Given the description of an element on the screen output the (x, y) to click on. 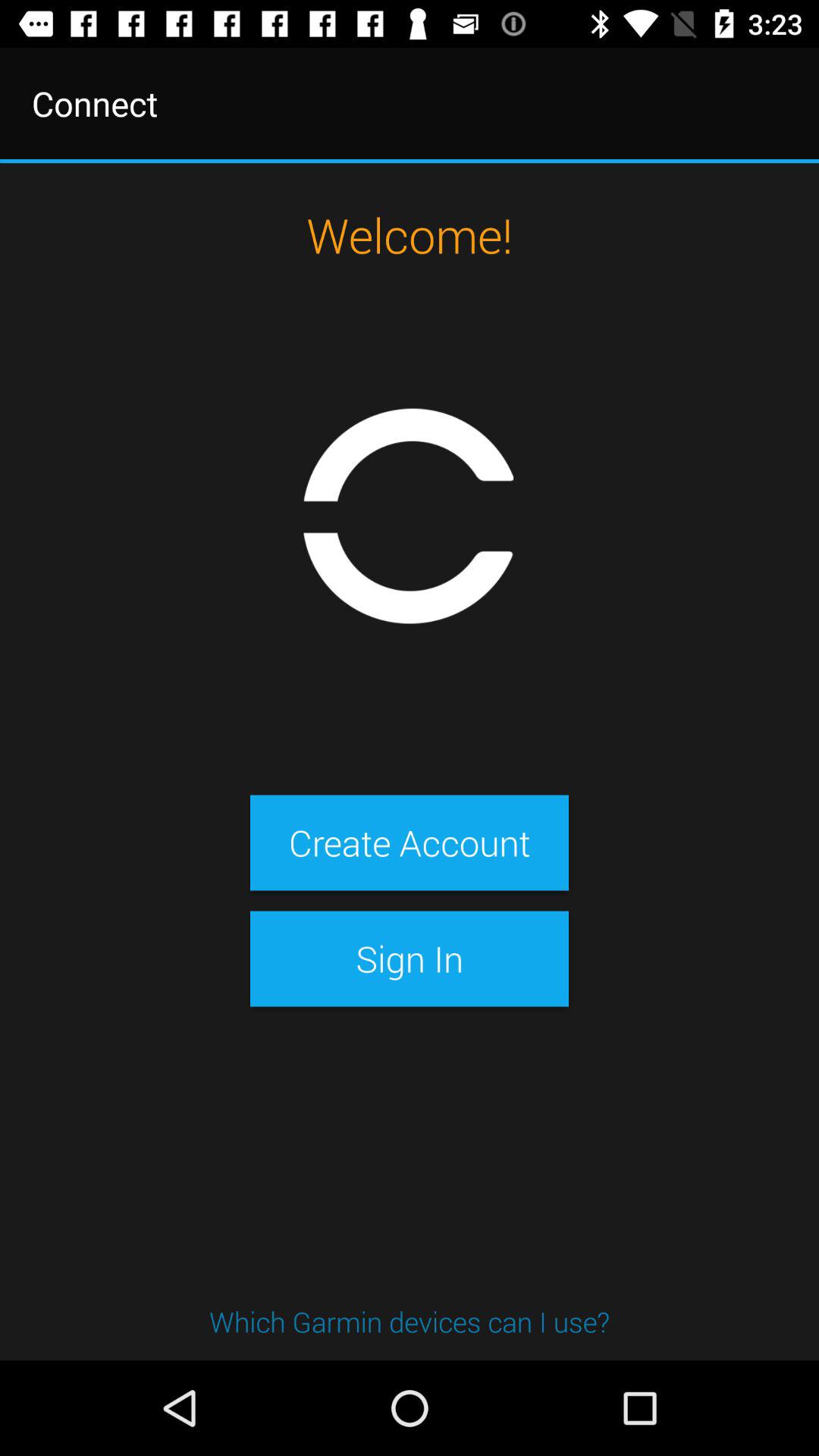
select the icon below create account icon (409, 958)
